Given the description of an element on the screen output the (x, y) to click on. 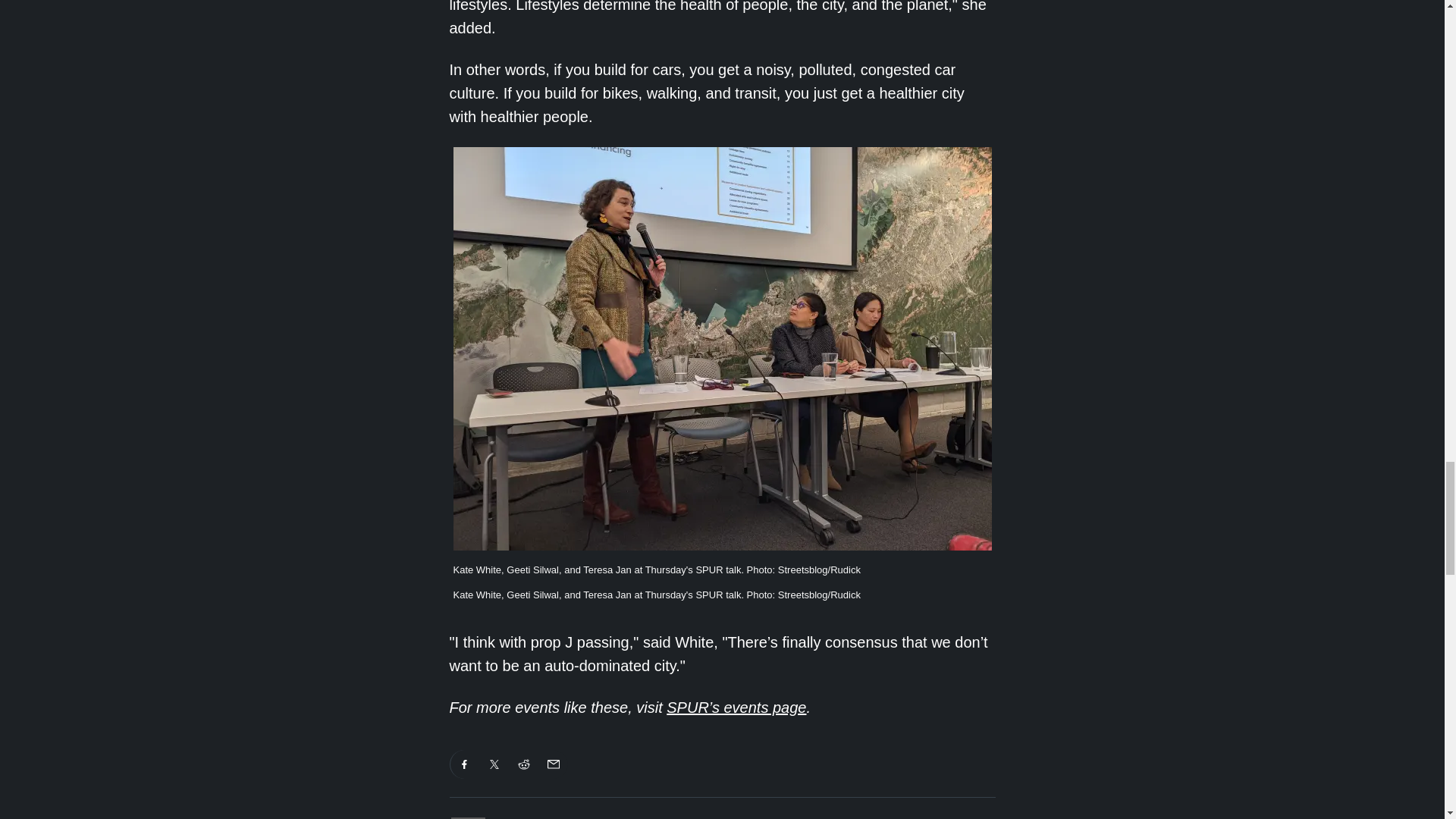
Share on Email (552, 764)
Share on Reddit (523, 764)
Share on Facebook (464, 764)
